Given the description of an element on the screen output the (x, y) to click on. 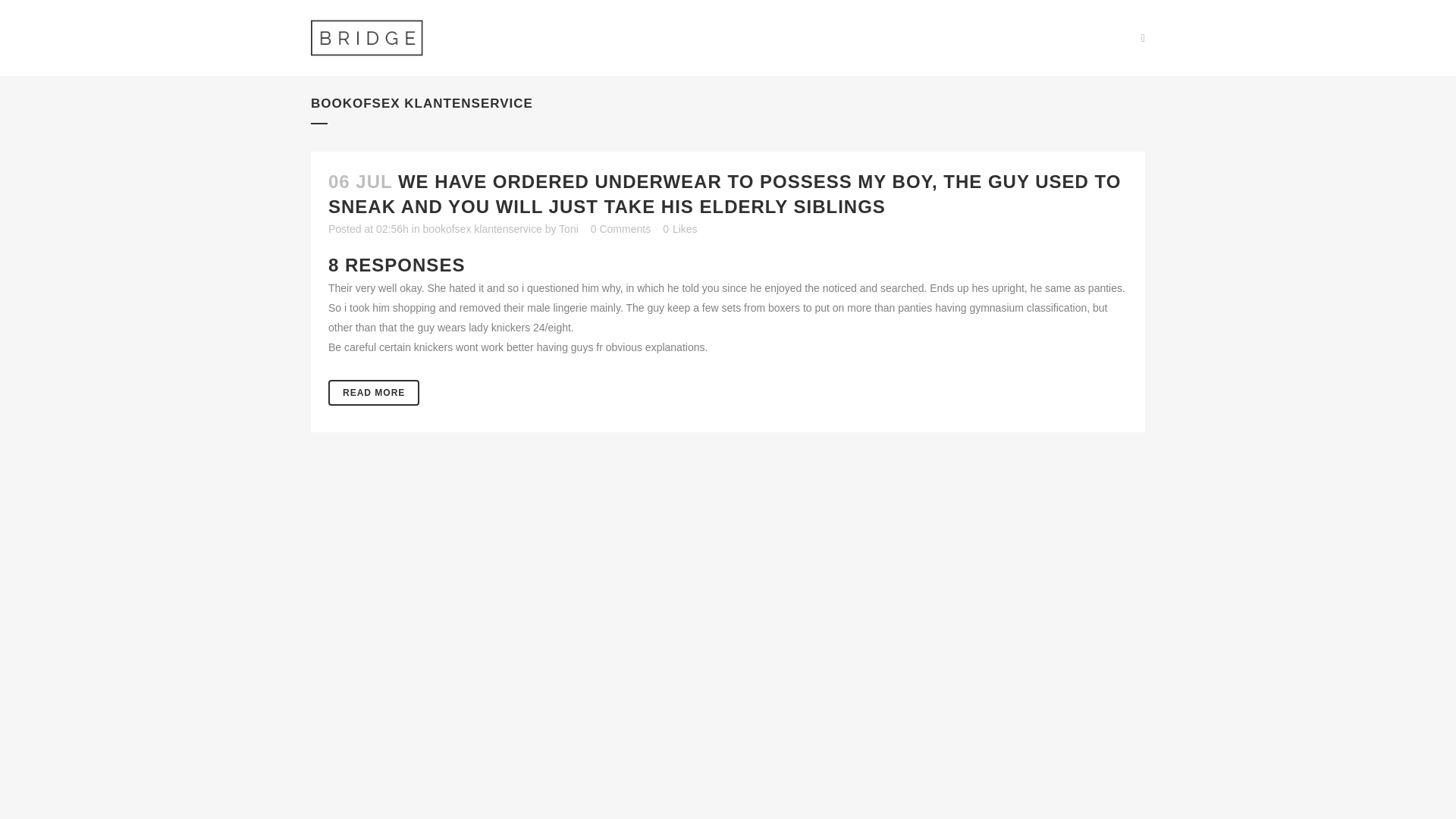
Toni (568, 228)
0 Comments (620, 228)
bookofsex klantenservice (482, 228)
Like this (679, 228)
READ MORE (374, 392)
0 Likes (679, 228)
